Given the description of an element on the screen output the (x, y) to click on. 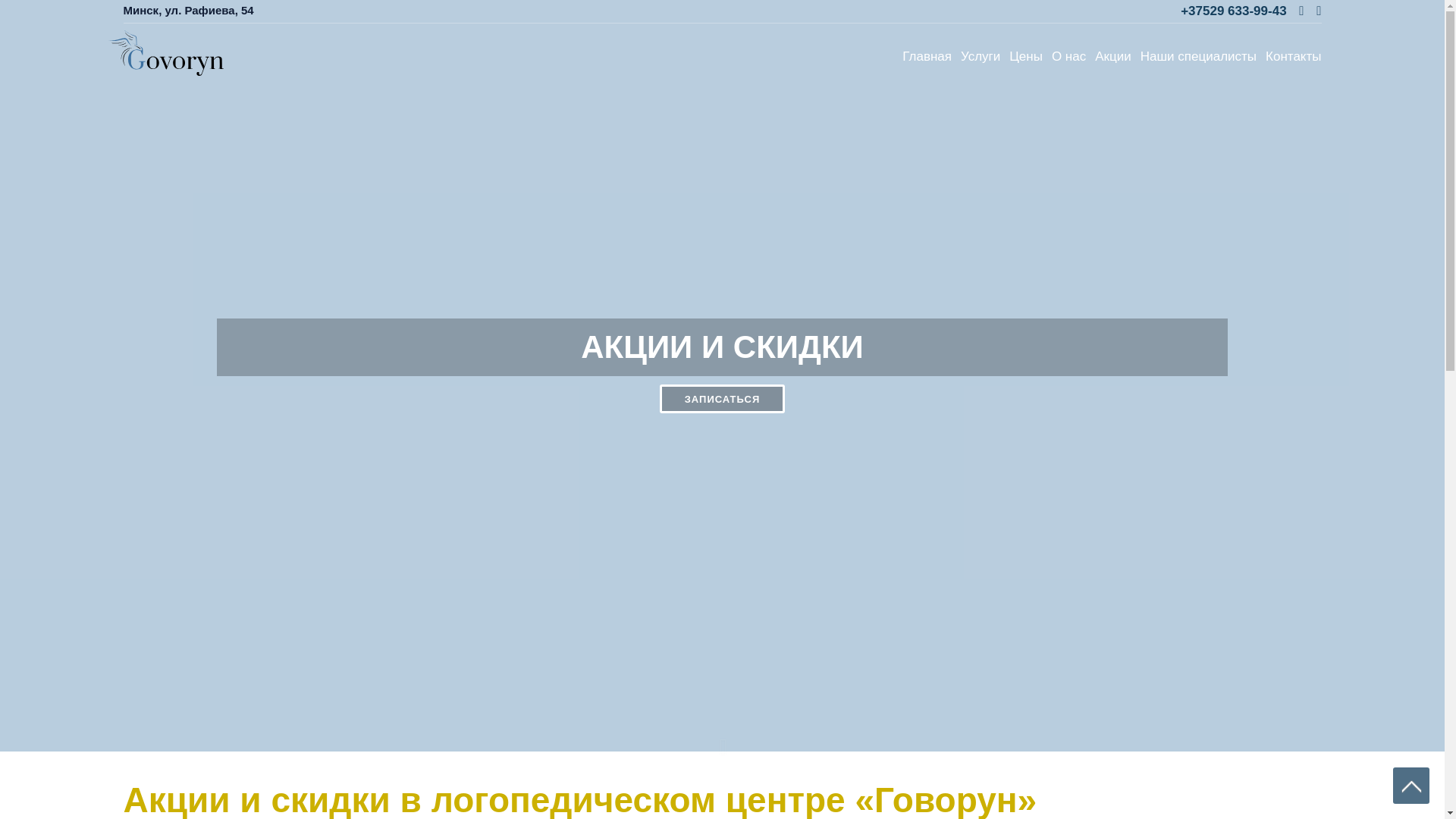
+37529 633-99-43 Element type: text (1234, 10)
